Given the description of an element on the screen output the (x, y) to click on. 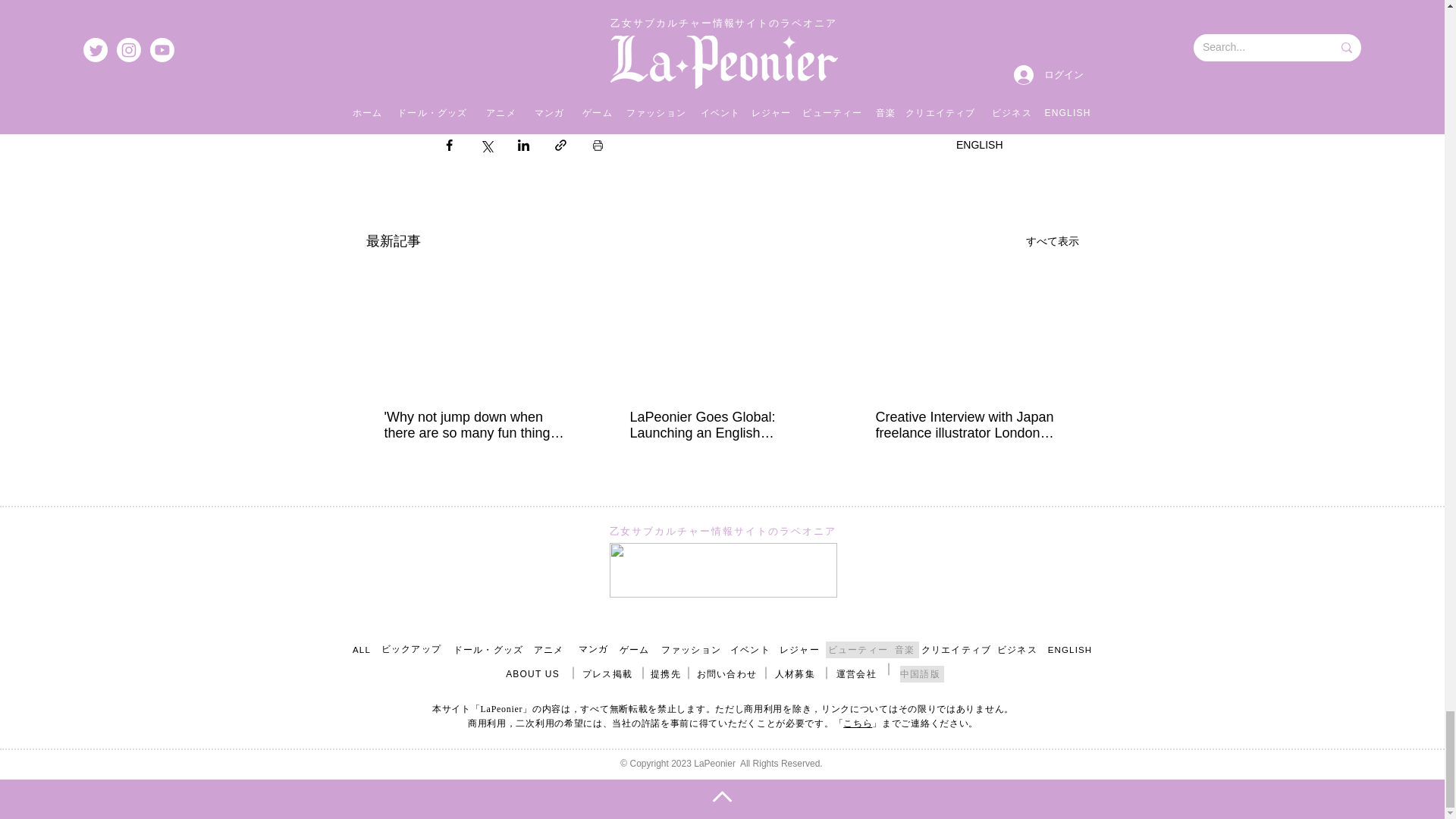
Western art (776, 6)
Tony Hawk (585, 6)
3D (527, 6)
illustrator (472, 6)
figure (710, 6)
Harry Potter: Magic Awakening (856, 29)
Krusier (654, 6)
J.C. Leyndecker (572, 29)
Eastern art (855, 6)
Kay Nielson (479, 29)
Onmyoji: The Card Game (696, 29)
N.C.Wyeth (933, 6)
